Given the description of an element on the screen output the (x, y) to click on. 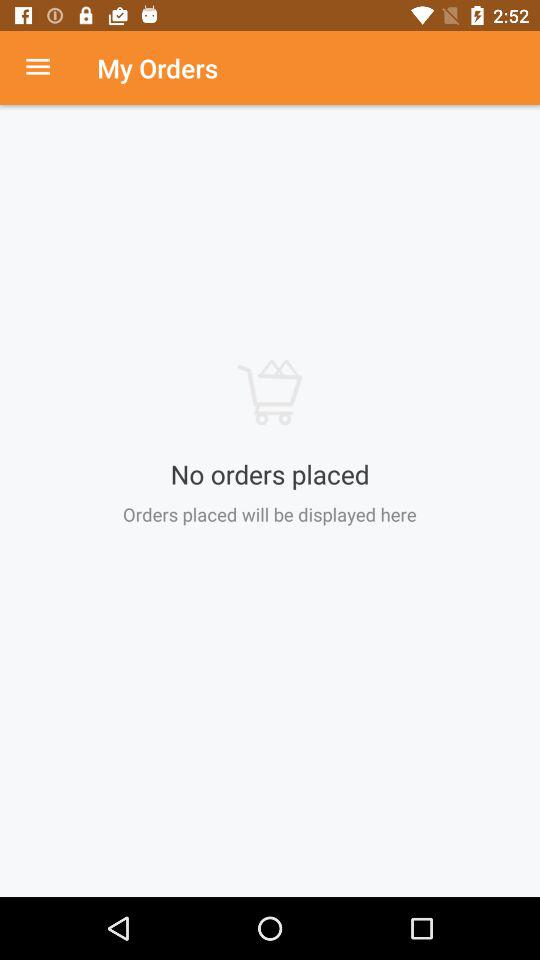
turn on item to the left of the my orders icon (48, 67)
